Given the description of an element on the screen output the (x, y) to click on. 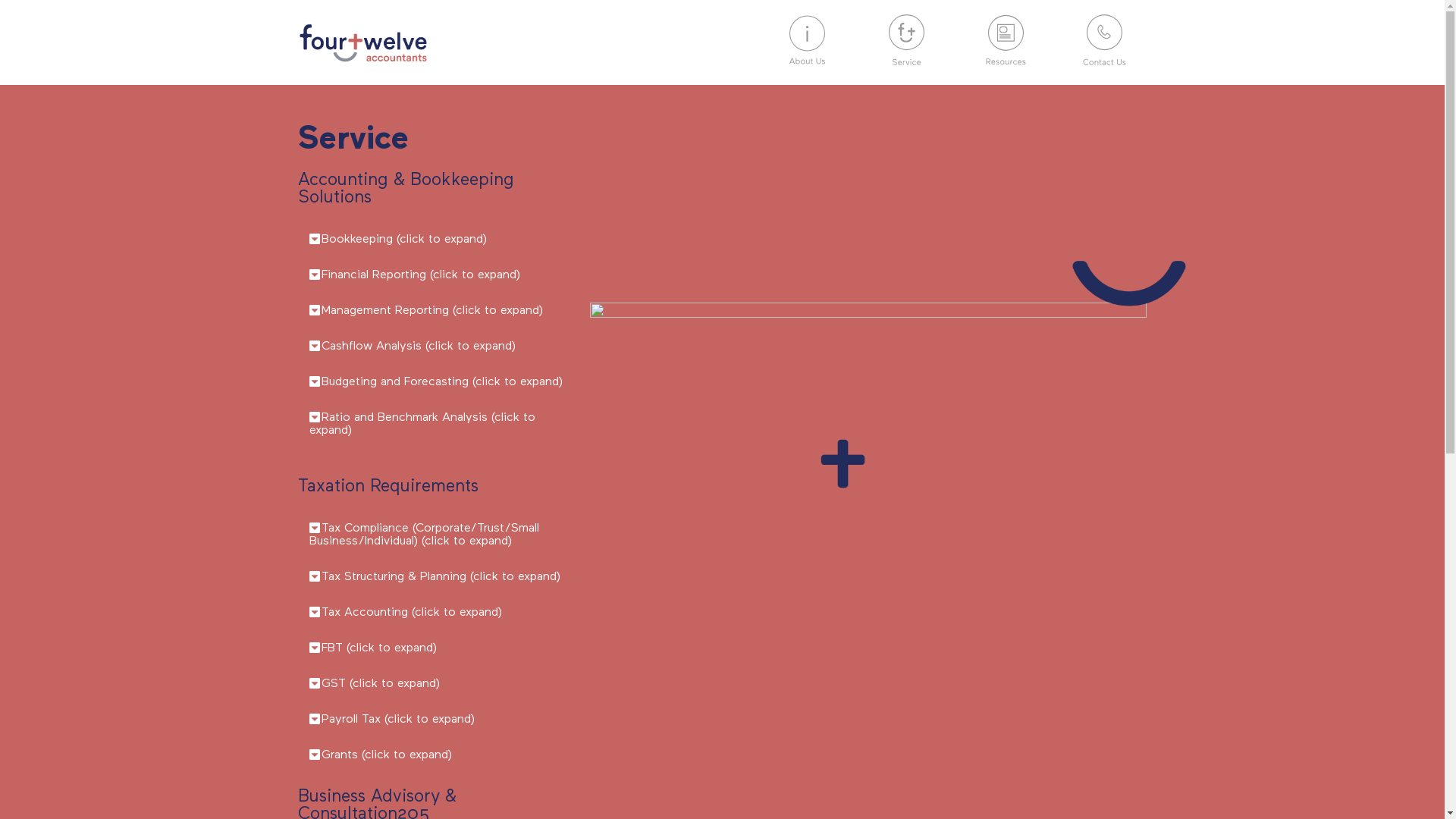
Ratio and Benchmark Analysis (click to expand) Element type: text (422, 423)
Bookkeeping (click to expand) Element type: text (403, 239)
Payroll Tax (click to expand) Element type: text (397, 719)
GST (click to expand) Element type: text (380, 683)
Management Reporting (click to expand) Element type: text (431, 310)
Budgeting and Forecasting (click to expand) Element type: text (441, 382)
FBT (click to expand) Element type: text (378, 648)
Grants (click to expand) Element type: text (386, 755)
Cashflow Analysis (click to expand) Element type: text (418, 346)
Tax Structuring & Planning (click to expand) Element type: text (440, 577)
Tax Accounting (click to expand) Element type: text (411, 612)
Financial Reporting (click to expand) Element type: text (420, 275)
Four_Twelve_Wordmark_coral_accountants-01 Element type: hover (362, 41)
